Given the description of an element on the screen output the (x, y) to click on. 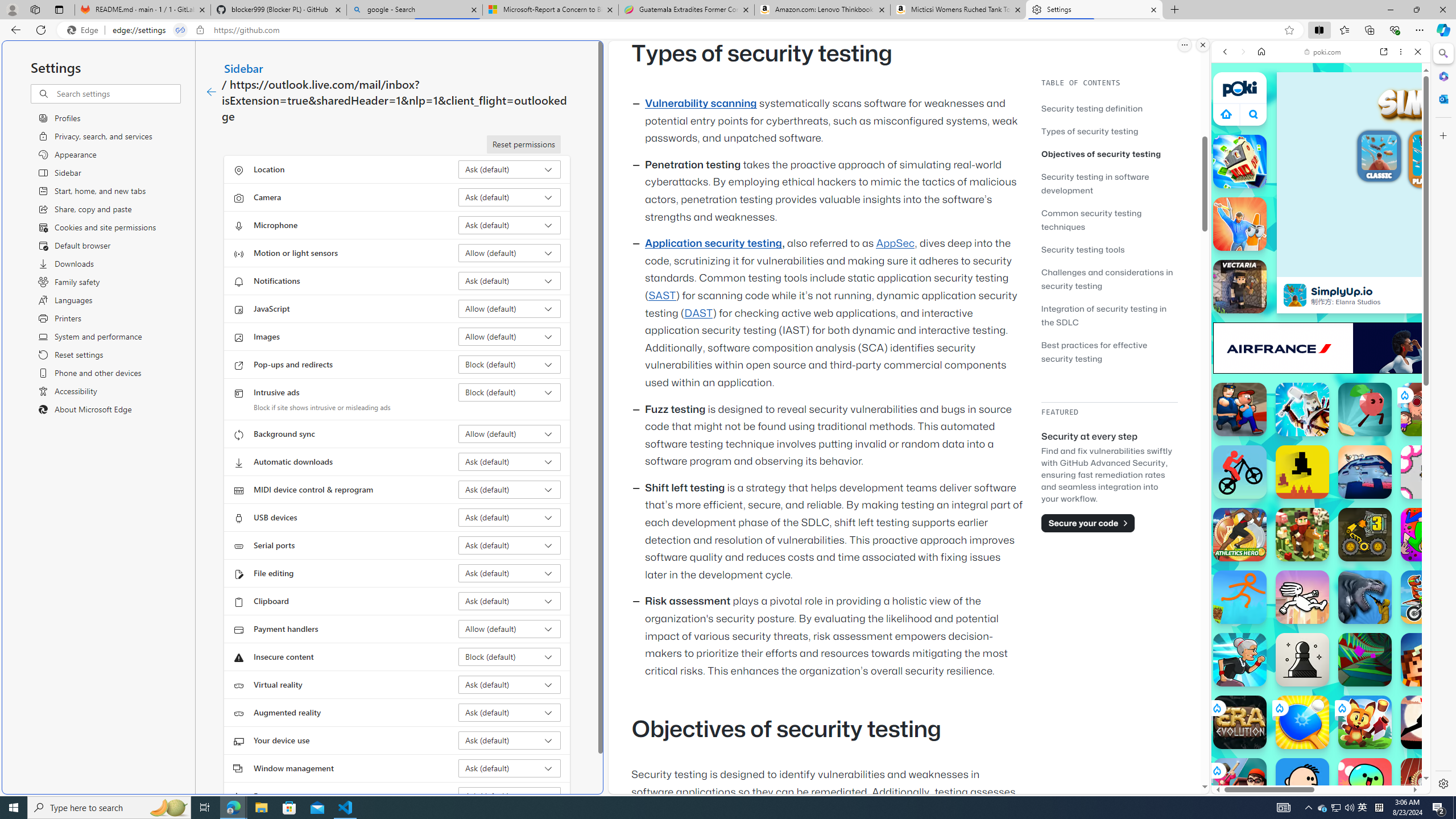
Tunnel Rush (1364, 659)
SAST (661, 295)
Go back to Sidebar page. (210, 91)
Io Games (1320, 351)
Security testing in software development (1094, 182)
Stickman Parkour Skyland (1239, 597)
Security testing tools (1109, 249)
Shooting Games (1320, 295)
Up Together (1364, 409)
DAST (698, 312)
Sharkosaurus Rampage (1364, 597)
